Given the description of an element on the screen output the (x, y) to click on. 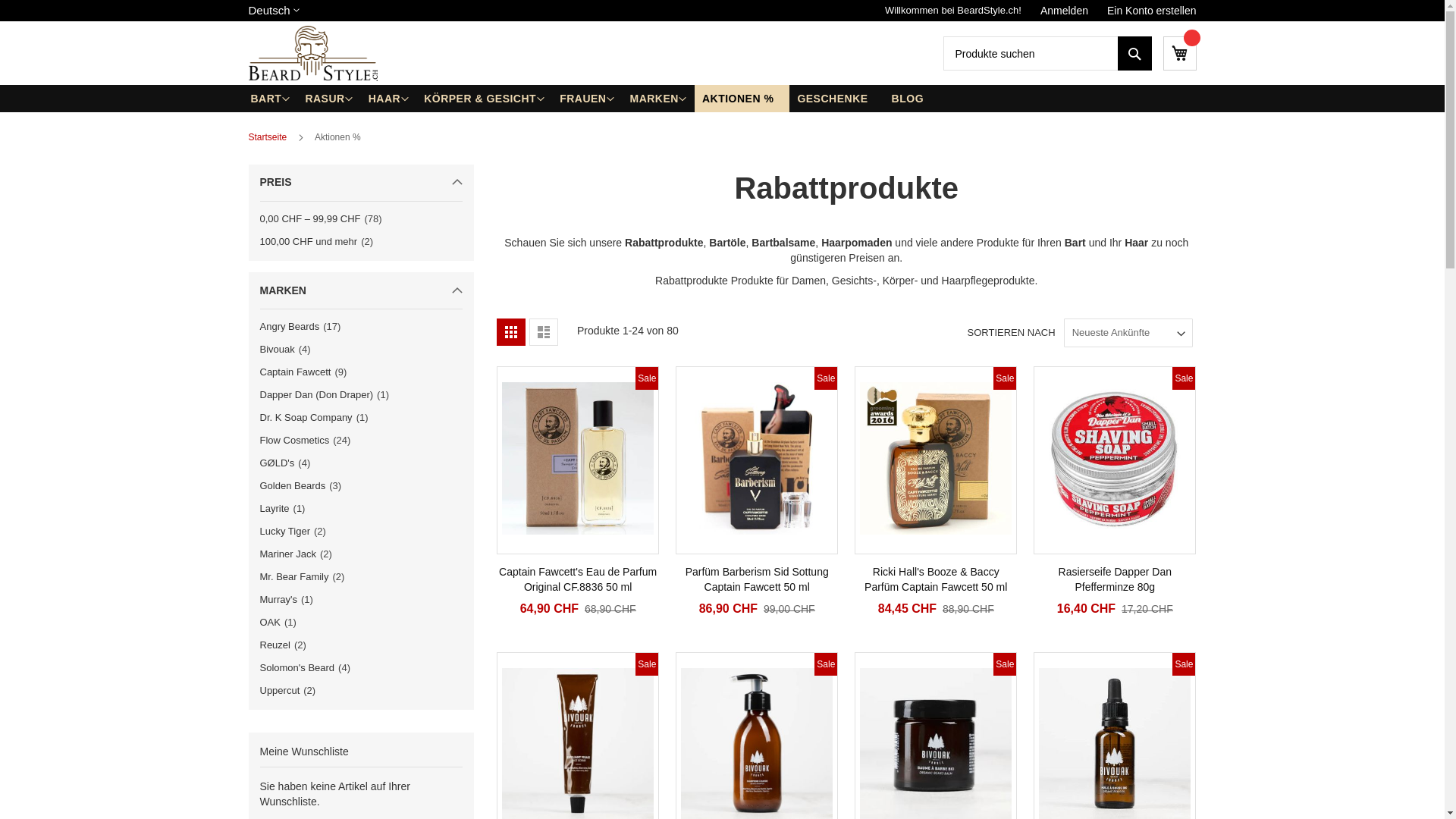
Uppercut2 Element type: text (290, 690)
Murray's1 Element type: text (289, 599)
MARKEN Element type: text (657, 98)
BLOG Element type: text (911, 98)
Mein Warenkorb Element type: text (1179, 53)
GESCHENKE Element type: text (836, 98)
Sale Element type: text (577, 460)
Flow Cosmetics24 Element type: text (308, 439)
Sale Element type: text (935, 460)
Bivouak4 Element type: text (288, 348)
Layrite1 Element type: text (285, 508)
Lucky Tiger2 Element type: text (295, 530)
Angry Beards17 Element type: text (303, 326)
Captain Fawcett9 Element type: text (306, 371)
AKTIONEN % Element type: text (741, 98)
Anmelden Element type: text (1064, 10)
Golden Beards3 Element type: text (303, 485)
Mariner Jack2 Element type: text (298, 553)
FRAUEN Element type: text (586, 98)
HAAR Element type: text (388, 98)
Solomon's Beard4 Element type: text (308, 667)
Search Element type: text (1134, 53)
OAK1 Element type: text (280, 621)
Sale Element type: text (756, 460)
Liste Element type: text (543, 331)
Sale Element type: text (1114, 460)
Rasierseife Dapper Dan Pfefferminze 80g Element type: text (1114, 579)
RASUR Element type: text (328, 98)
Captain Fawcett's Eau de Parfum Original CF.8836 50 ml Element type: text (577, 579)
Reuzel2 Element type: text (285, 644)
BART Element type: text (269, 98)
Dapper Dan (Don Draper)1 Element type: text (327, 394)
Startseite Element type: text (267, 136)
100,00 CHF und mehr2 Element type: text (319, 241)
Dr. K Soap Company1 Element type: text (316, 417)
Mr. Bear Family2 Element type: text (305, 576)
Ein Konto erstellen Element type: text (1151, 10)
